Given the description of an element on the screen output the (x, y) to click on. 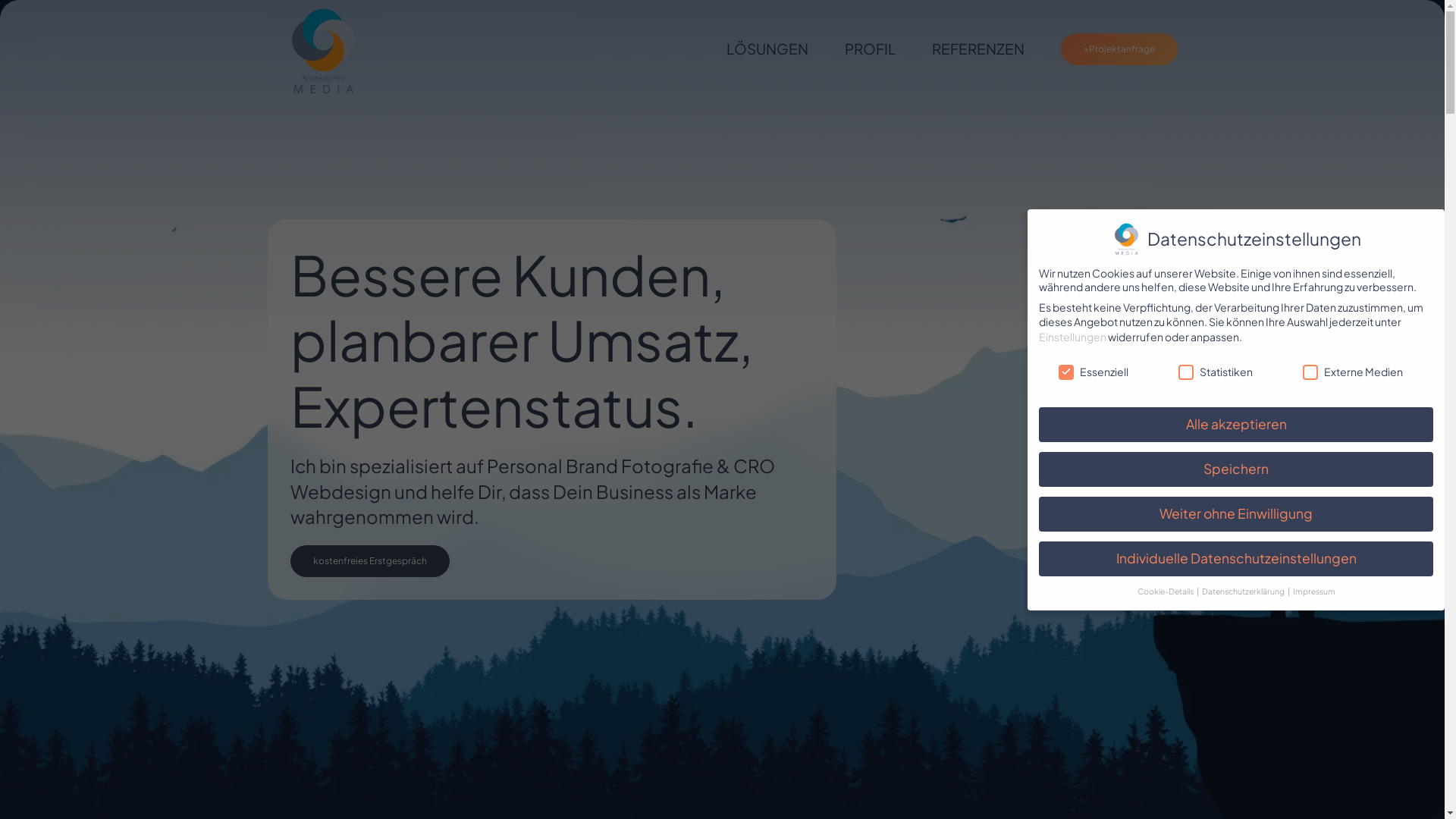
Speichern Element type: text (1235, 468)
Cookie-Details Element type: text (1166, 591)
Weiter ohne Einwilligung Element type: text (1235, 513)
Individuelle Datenschutzeinstellungen Element type: text (1235, 558)
Impressum Element type: text (1313, 591)
PROFIL Element type: text (869, 48)
REFERENZEN Element type: text (977, 48)
Alle akzeptieren Element type: text (1235, 424)
>Projektanfrage Element type: text (1118, 49)
Einstellungen Element type: text (1072, 336)
